Given the description of an element on the screen output the (x, y) to click on. 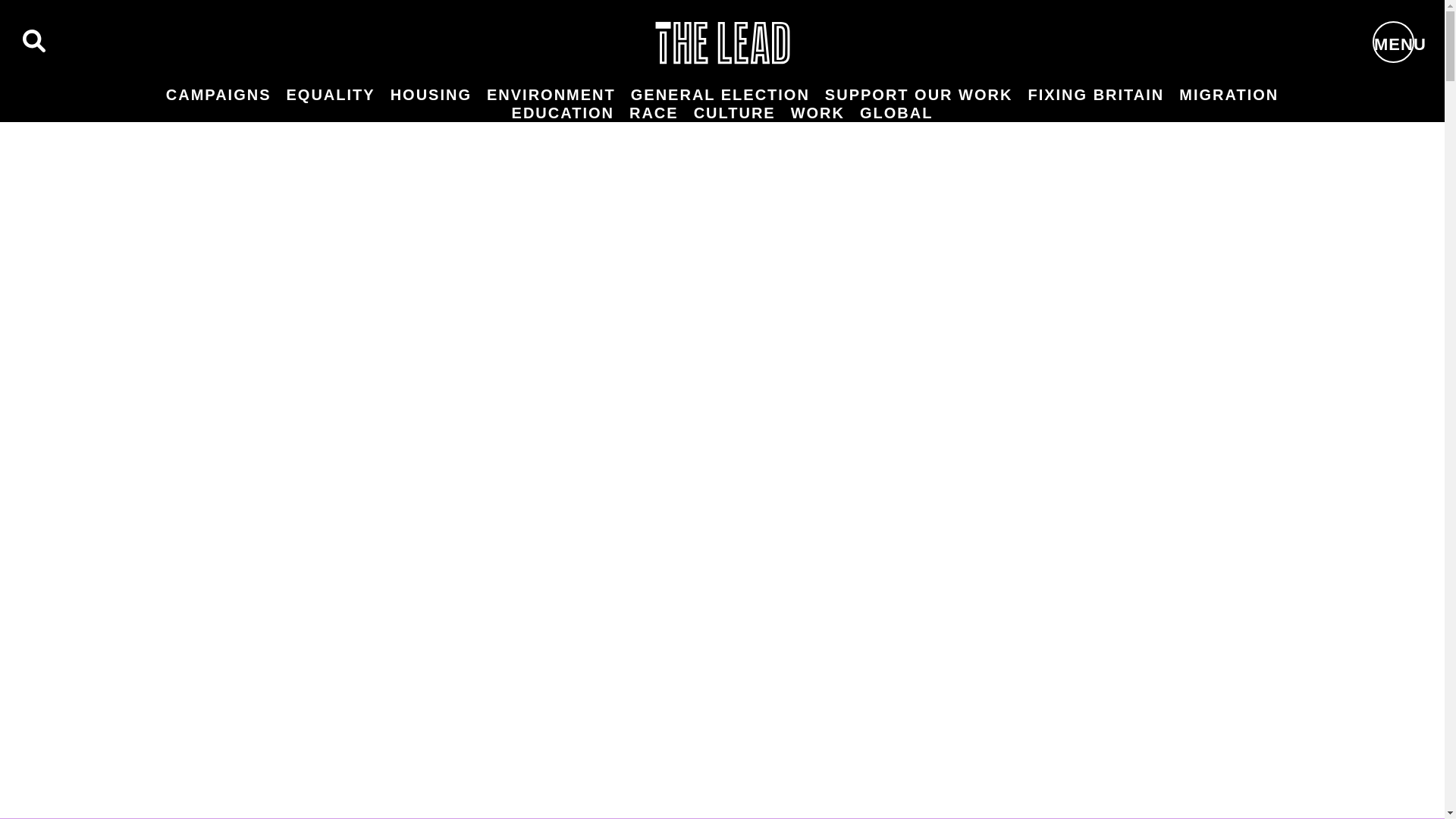
GLOBAL (895, 113)
EDUCATION (562, 113)
EQUALITY (330, 94)
MIGRATION (1228, 94)
WORK (817, 113)
GENERAL ELECTION (719, 94)
RACE (653, 113)
SUPPORT OUR WORK (918, 94)
HOUSING (430, 94)
CULTURE (734, 113)
ENVIRONMENT (551, 94)
FIXING BRITAIN (1096, 94)
CAMPAIGNS (218, 94)
